Given the description of an element on the screen output the (x, y) to click on. 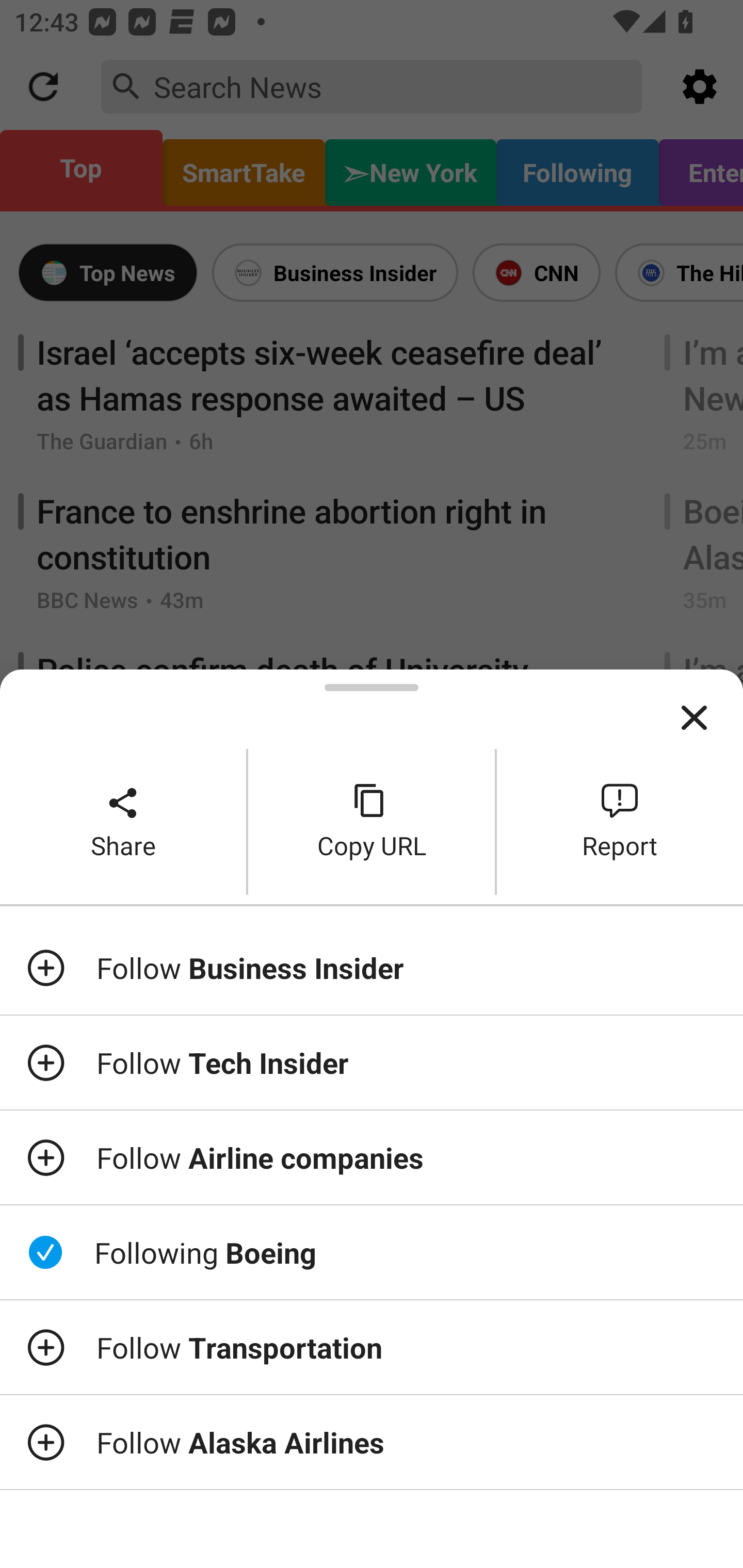
Close (694, 717)
Share (122, 822)
Copy URL (371, 822)
Report (620, 822)
Follow Business Insider (371, 967)
Follow Tech Insider (371, 1063)
Follow Airline companies (371, 1157)
Following Boeing (371, 1252)
Follow Transportation (371, 1346)
Follow Alaska Airlines (371, 1442)
